Given the description of an element on the screen output the (x, y) to click on. 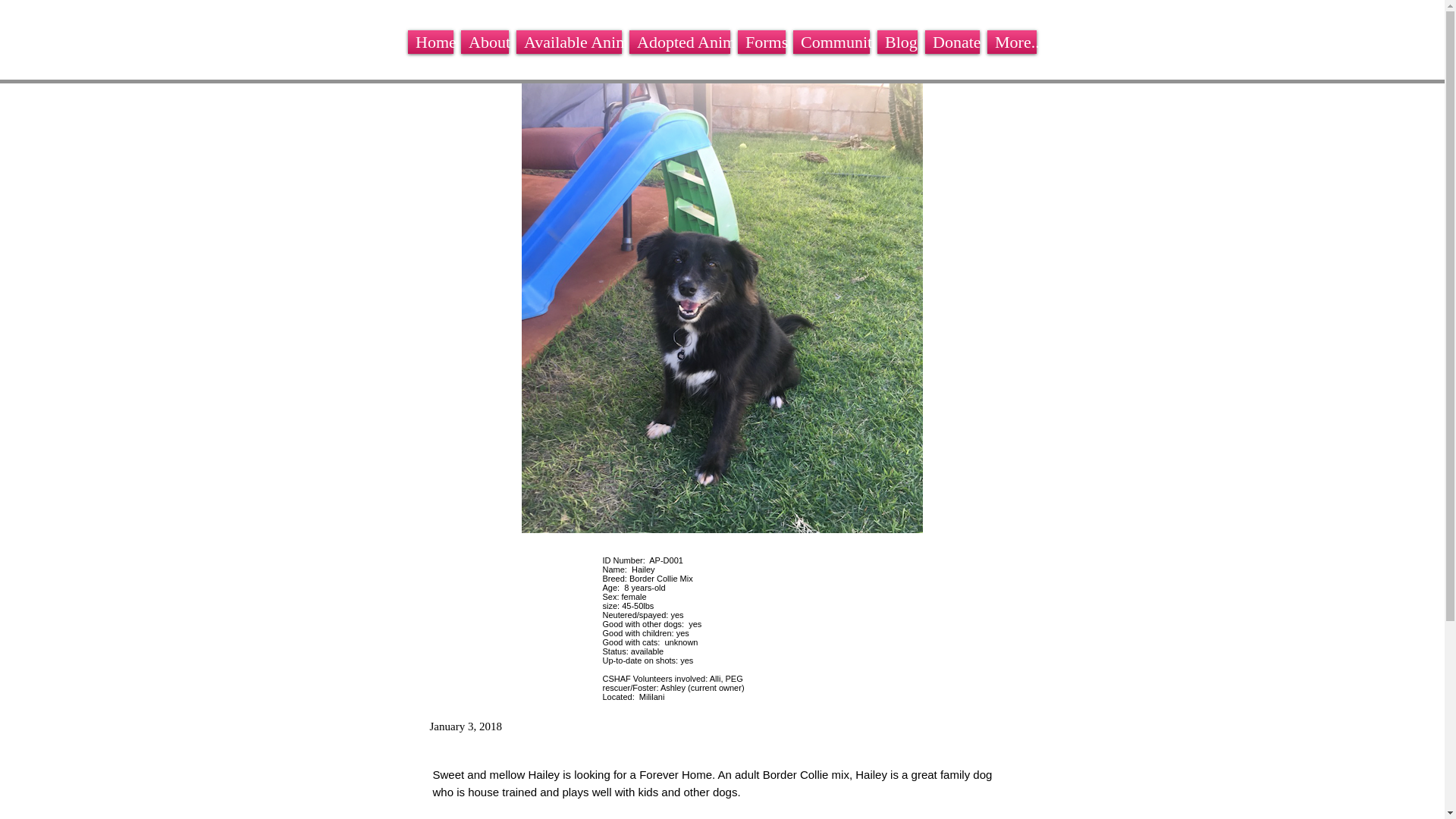
About (484, 42)
Available Animals (569, 42)
Blog (897, 42)
Donate (952, 42)
Forms (761, 42)
Home (432, 42)
Community (831, 42)
Adopted Animals (679, 42)
